Given the description of an element on the screen output the (x, y) to click on. 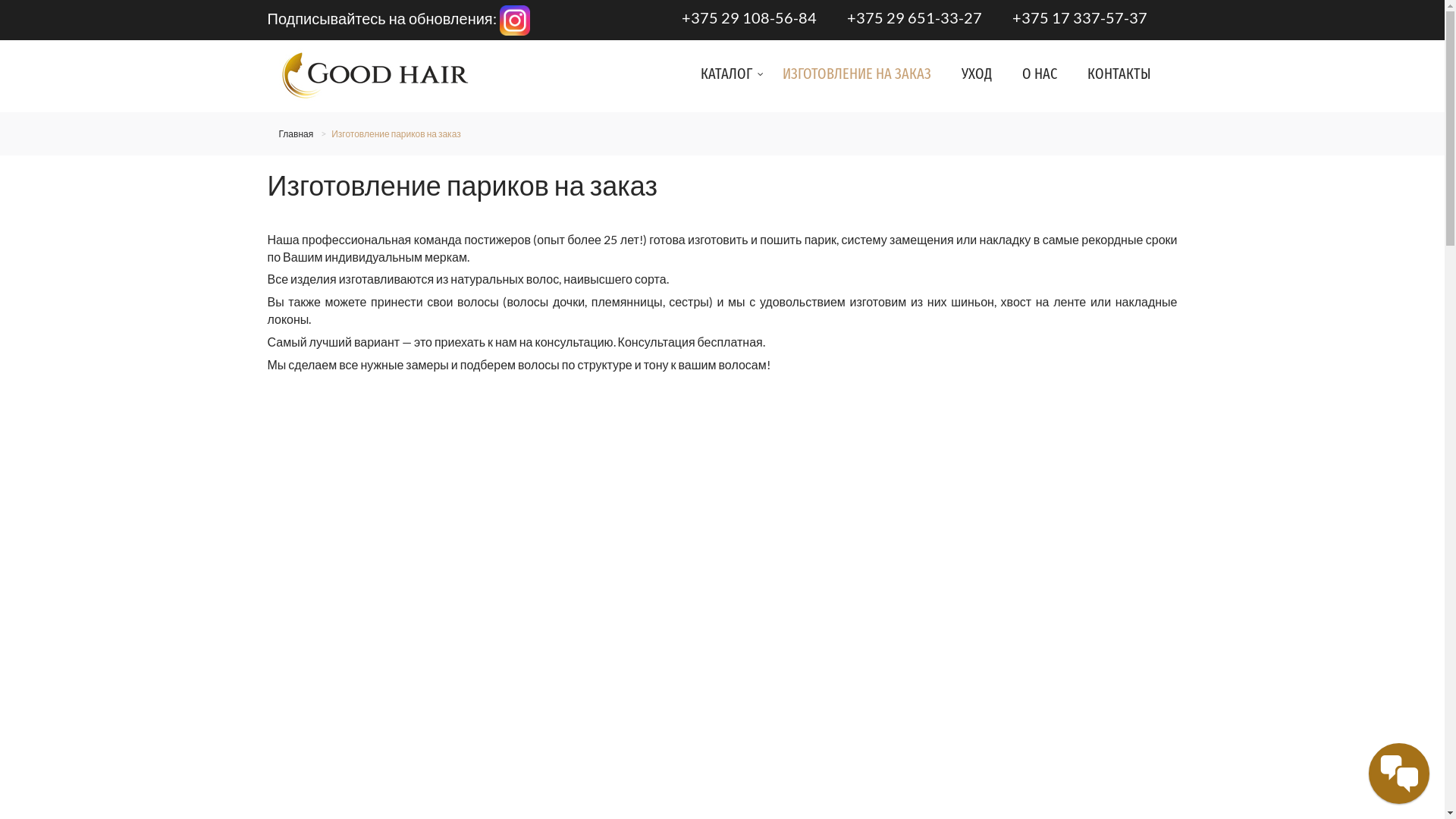
+375 29 651-33-27 Element type: text (913, 17)
+375 17 337-57-37 Element type: text (1078, 17)
+375 29 108-56-84 Element type: text (747, 17)
